Given the description of an element on the screen output the (x, y) to click on. 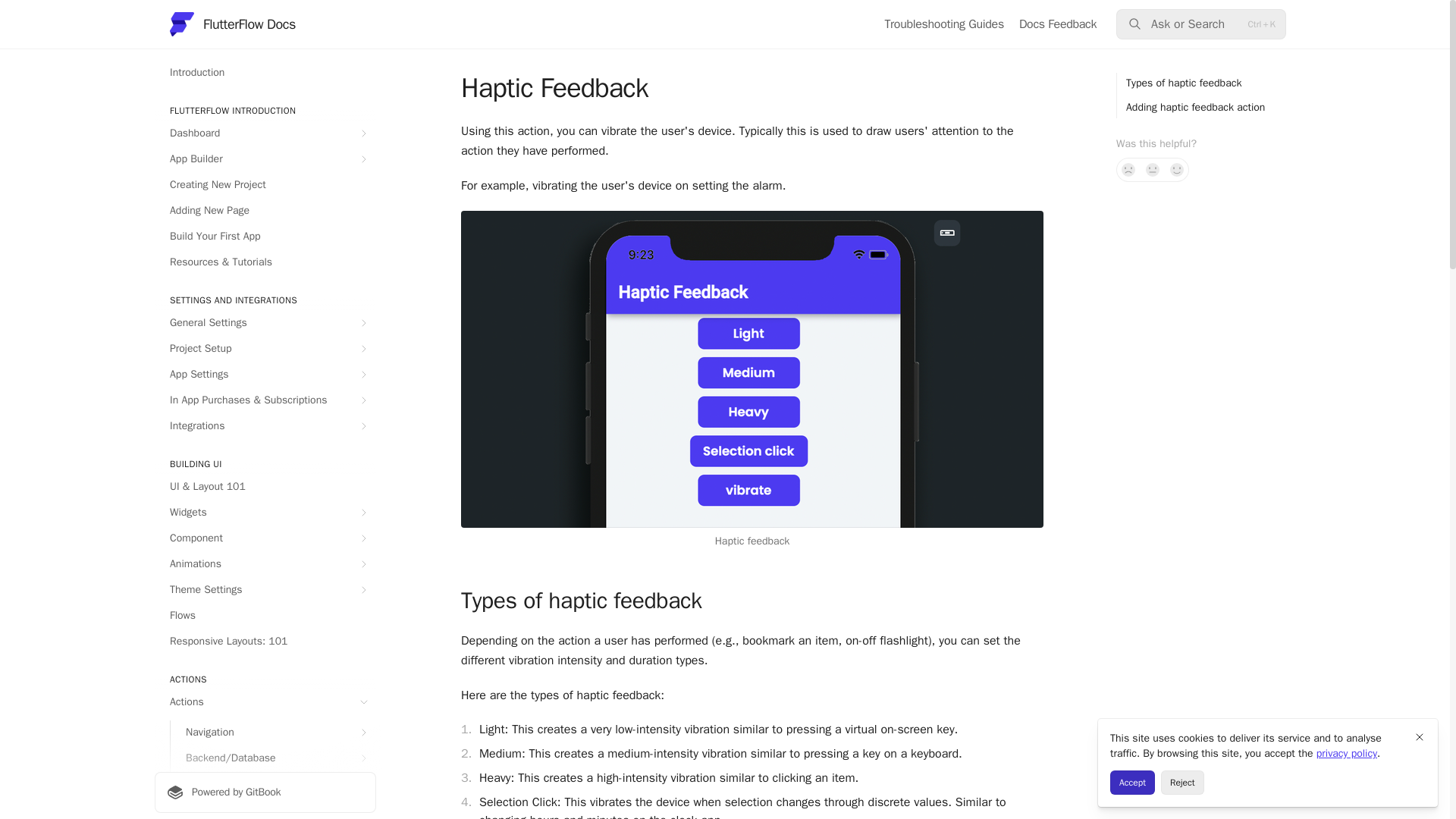
Docs Feedback (1057, 24)
FlutterFlow Docs (232, 24)
App Settings (264, 374)
Yes, it was! (1176, 169)
Not sure (1152, 169)
Introduction (264, 72)
Close (1419, 737)
Dashboard (264, 133)
No (1128, 169)
App Builder (264, 159)
Troubleshooting Guides (943, 24)
Adding New Page (264, 210)
Project Setup (264, 348)
Creating New Project (264, 184)
General Settings (264, 322)
